Given the description of an element on the screen output the (x, y) to click on. 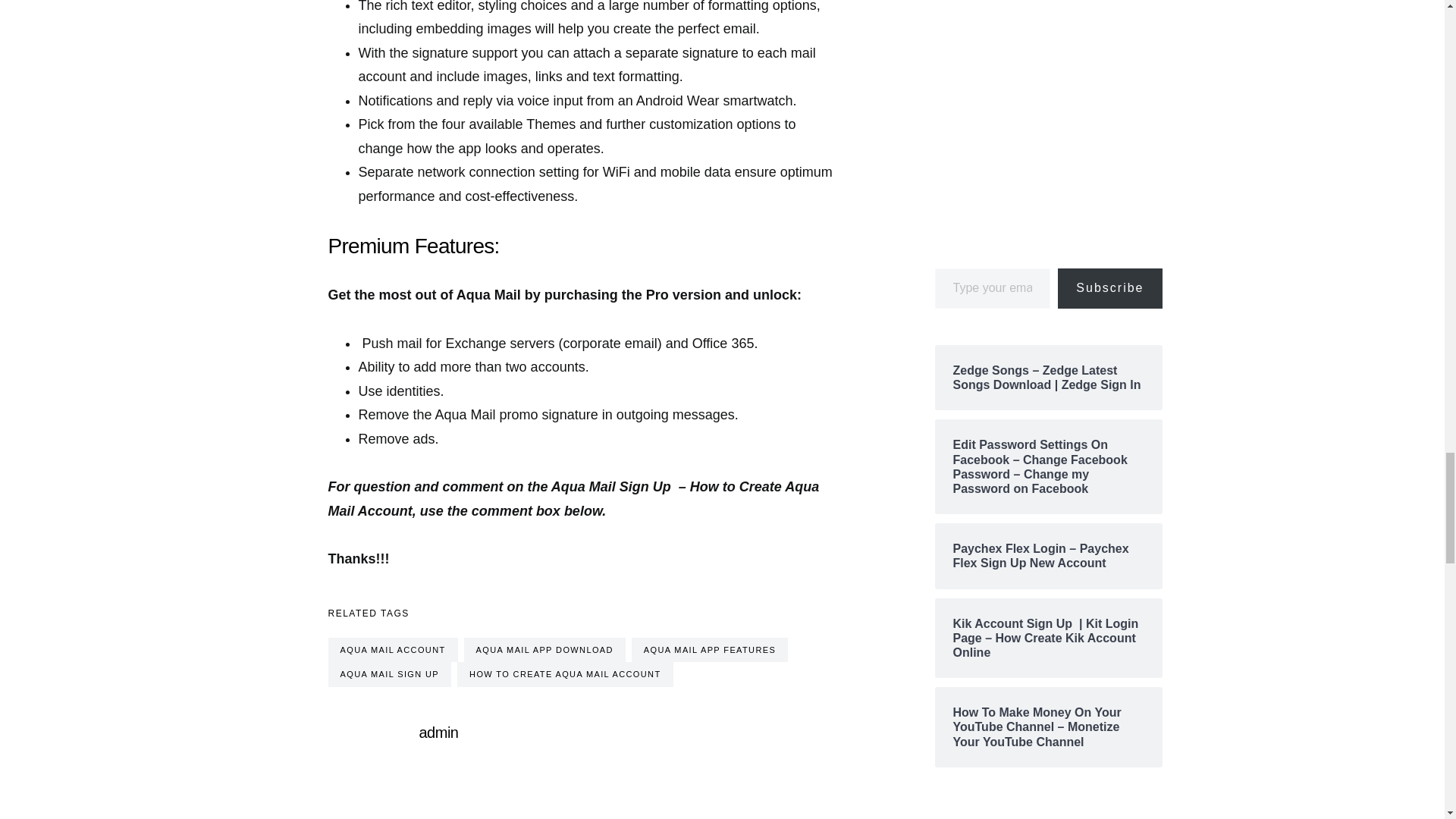
AQUA MAIL SIGN UP (389, 674)
AQUA MAIL APP DOWNLOAD (545, 650)
AQUA MAIL APP FEATURES (709, 650)
admin (438, 732)
HOW TO CREATE AQUA MAIL ACCOUNT (564, 674)
AQUA MAIL ACCOUNT (392, 650)
